Given the description of an element on the screen output the (x, y) to click on. 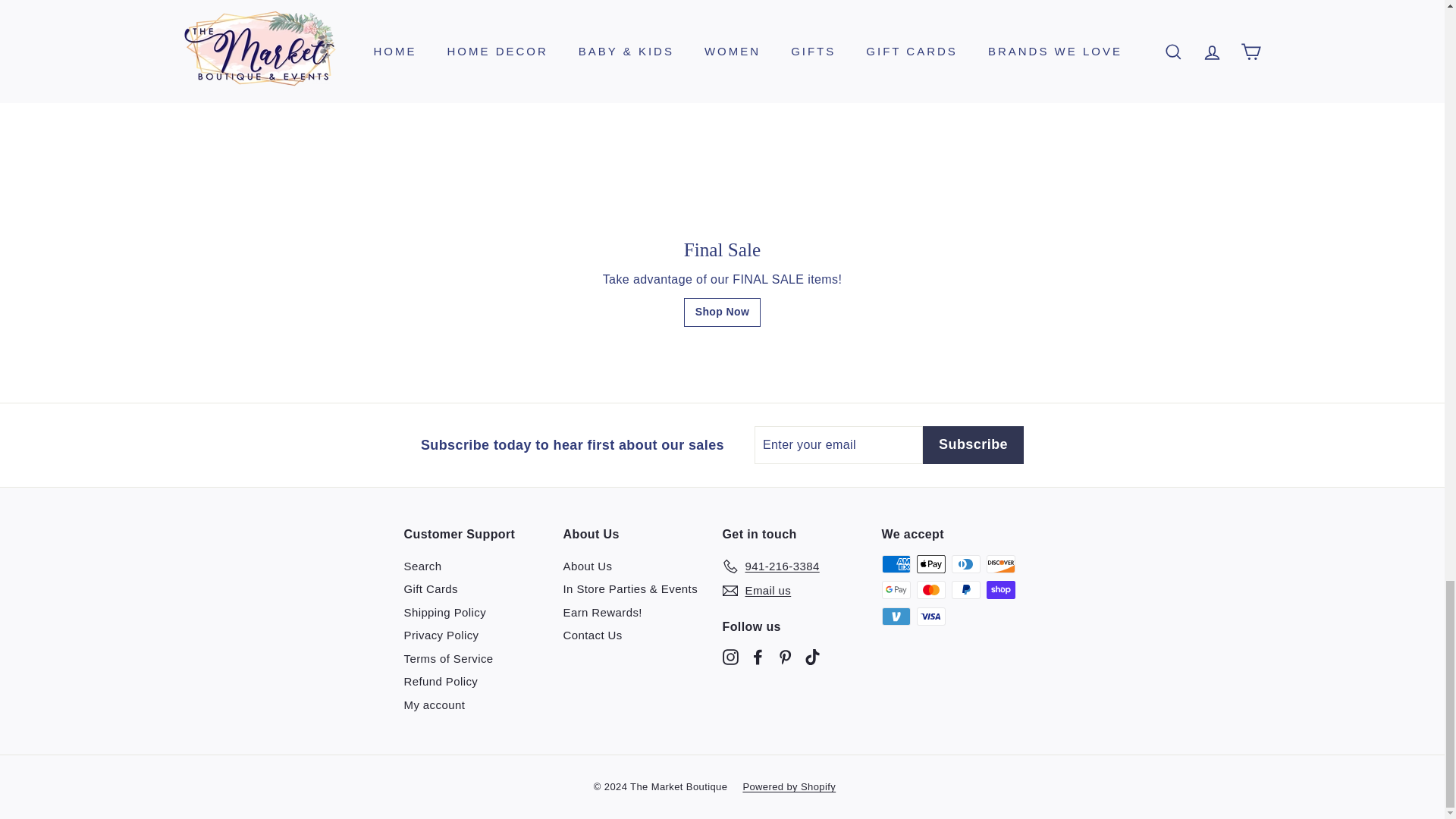
The Market Boutique on Pinterest (784, 656)
The Market Boutique on TikTok (811, 656)
The Market Boutique on Facebook (757, 656)
The Market Boutique on Instagram (730, 656)
